Given the description of an element on the screen output the (x, y) to click on. 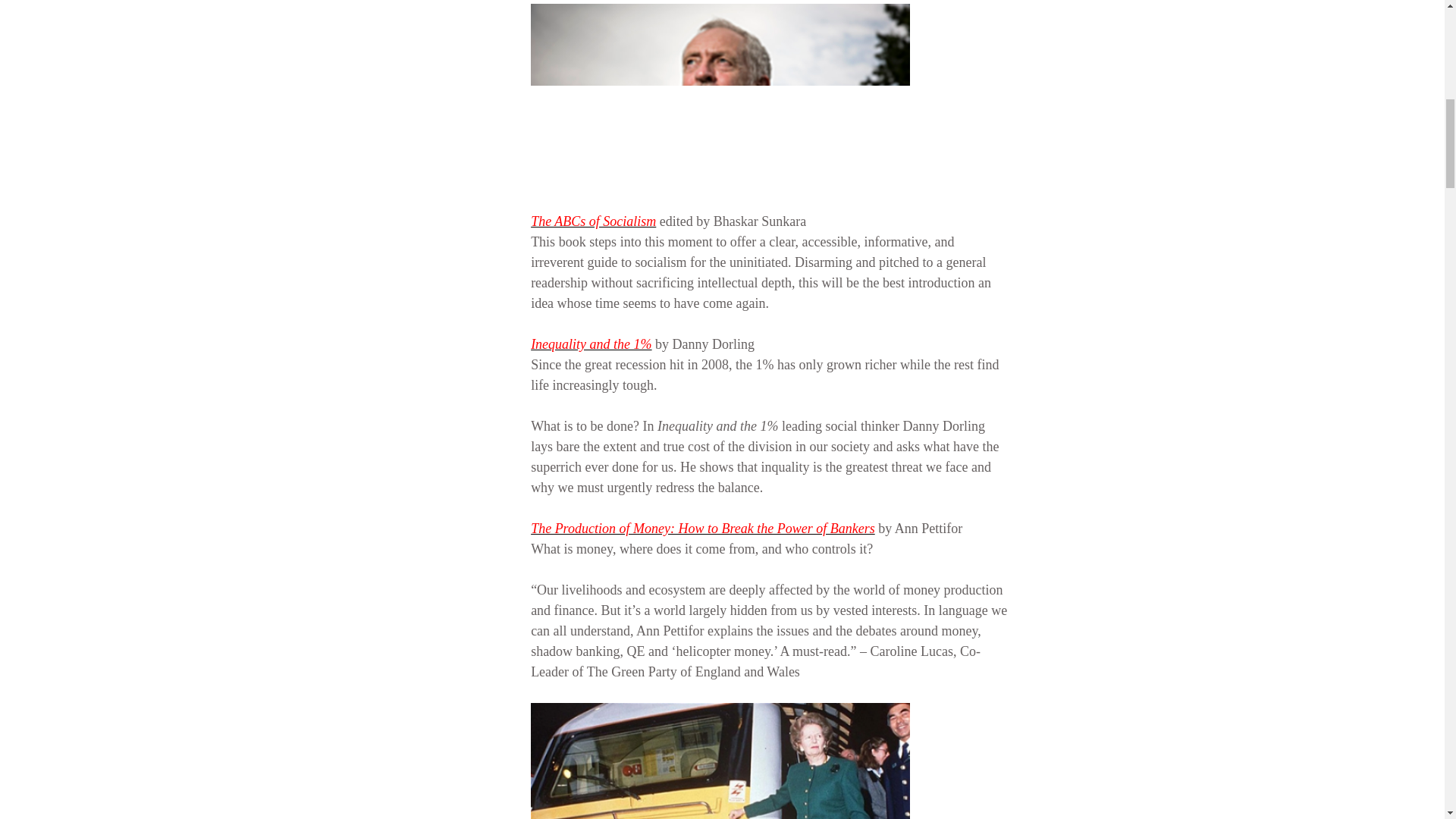
The ABCs of Socialism (593, 221)
The Production of Money: How to Break the Power of Bankers (703, 528)
